Given the description of an element on the screen output the (x, y) to click on. 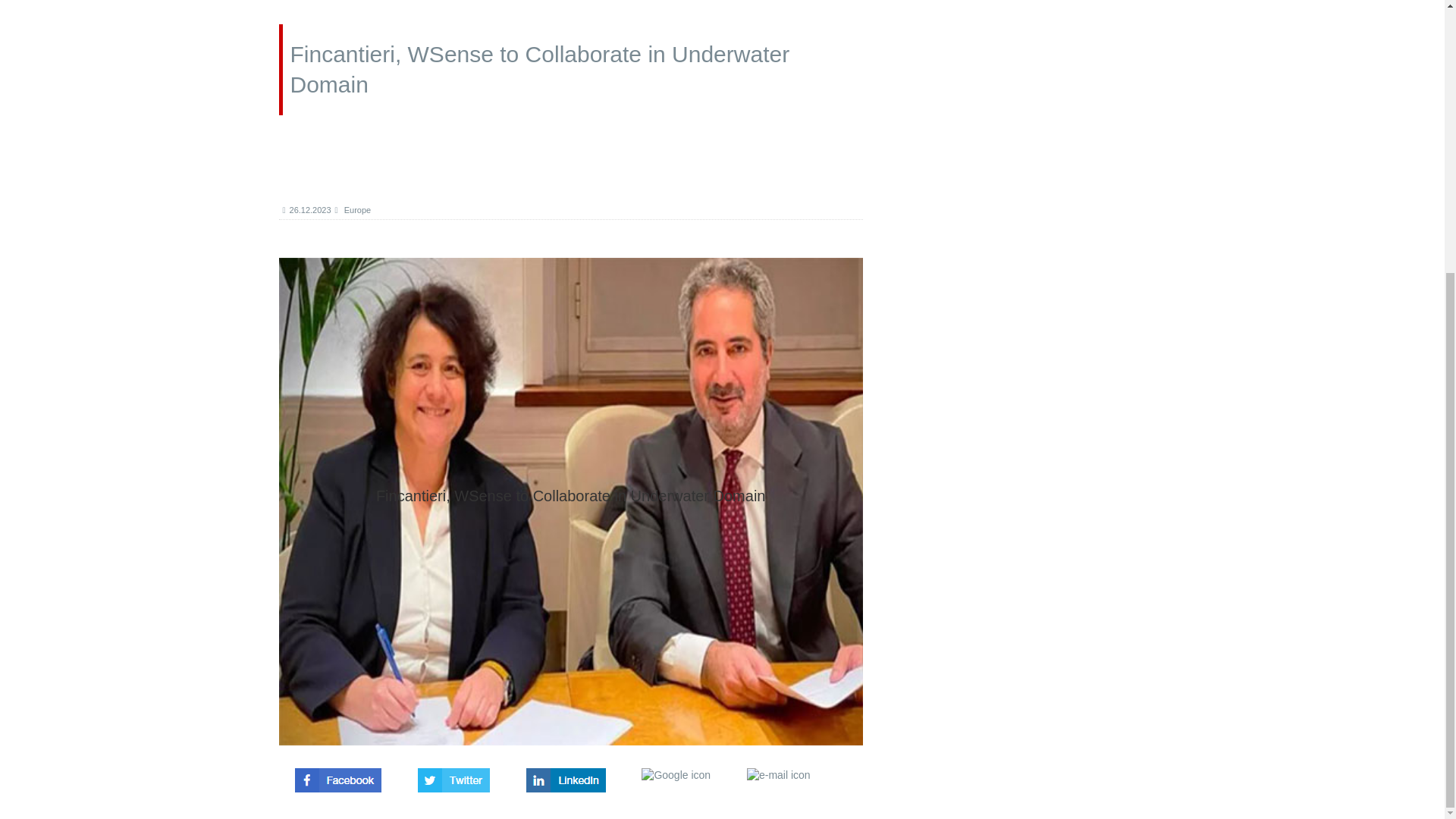
Tweet this (453, 775)
Share on LinkedIn (565, 775)
Visit defaiya on Facebook (338, 775)
Europe (352, 209)
